Given the description of an element on the screen output the (x, y) to click on. 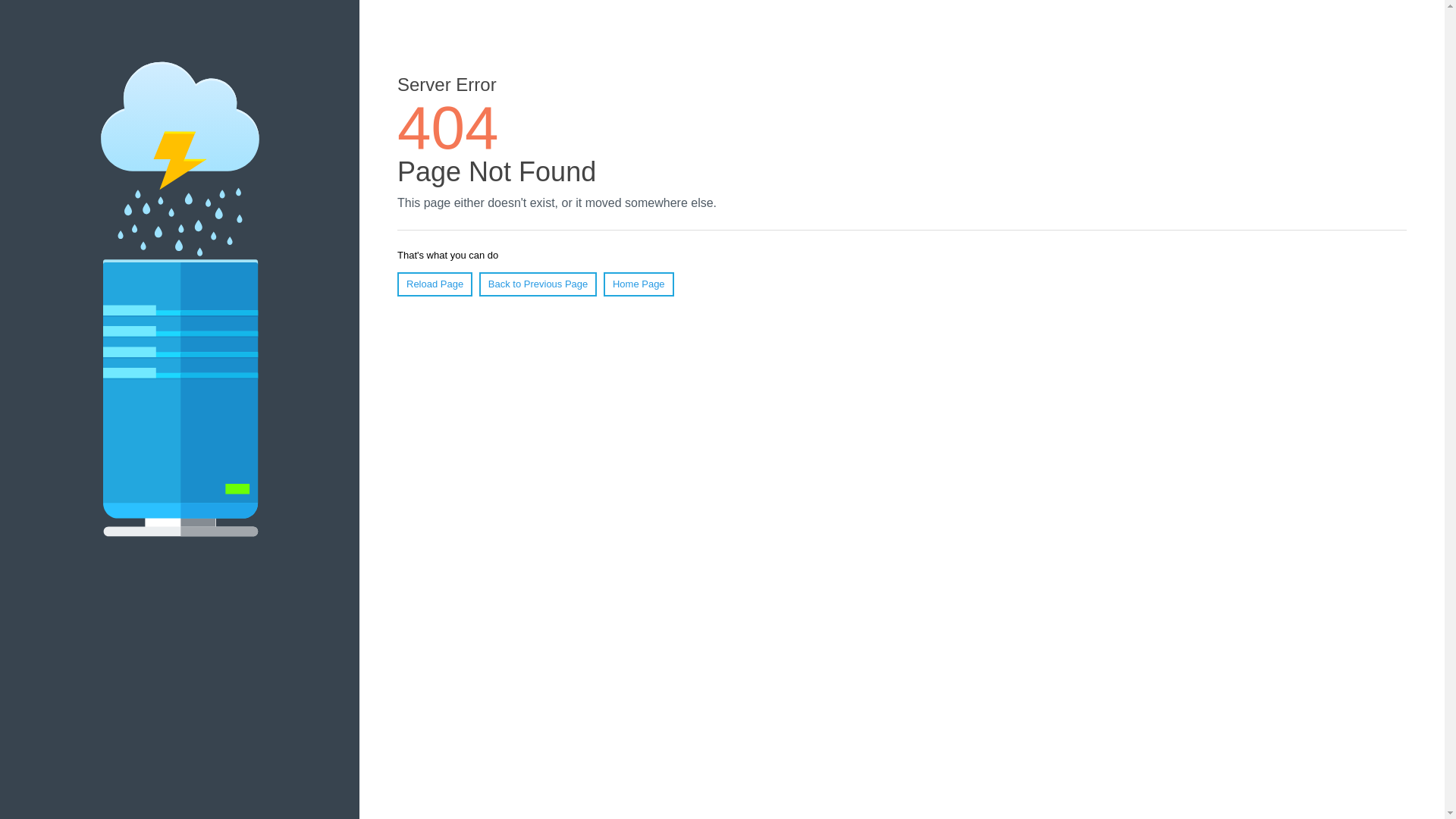
Reload Page Element type: text (434, 284)
Home Page Element type: text (638, 284)
Back to Previous Page Element type: text (538, 284)
